Given the description of an element on the screen output the (x, y) to click on. 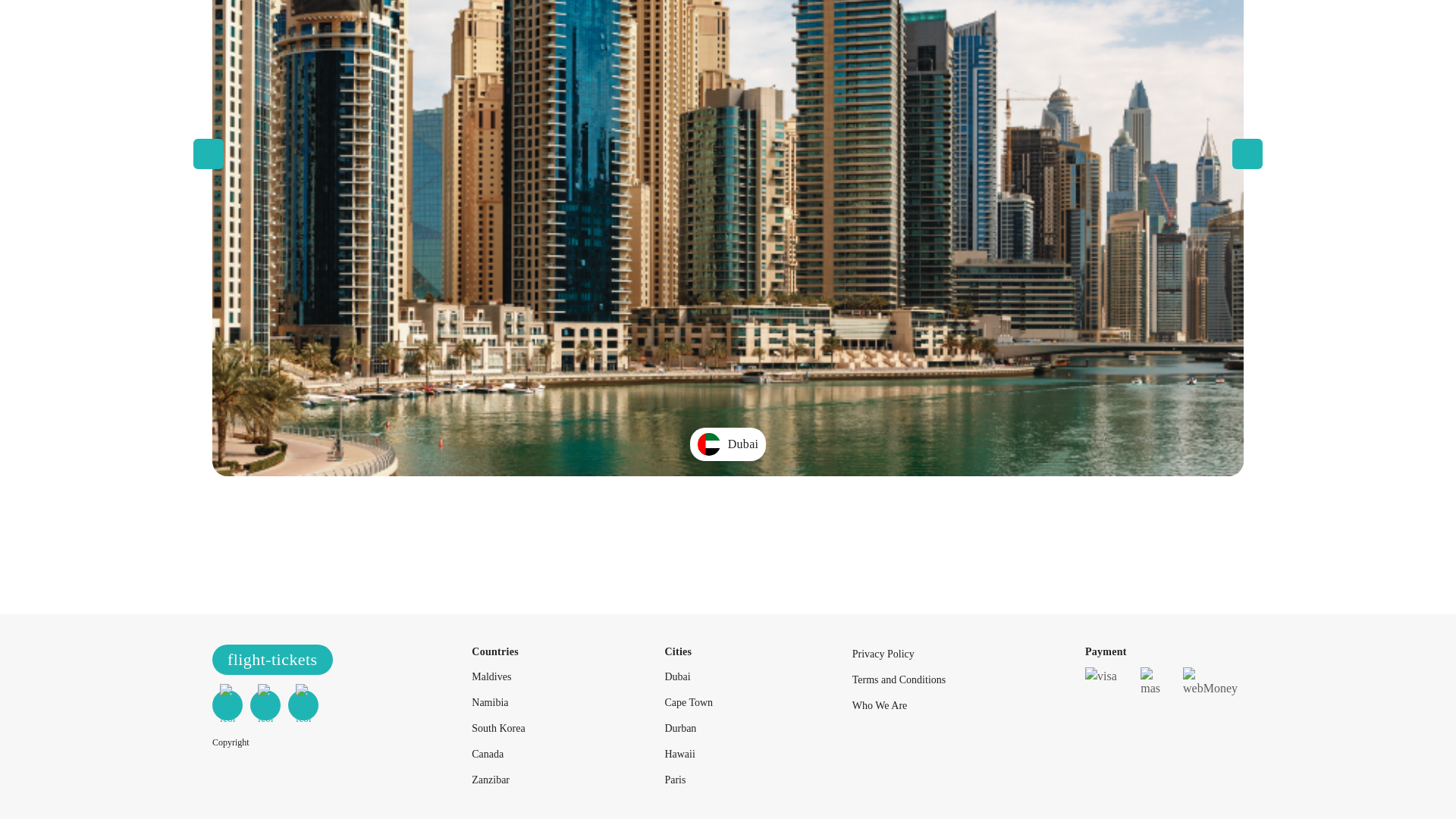
Who We Are (879, 705)
Privacy Policy (882, 654)
Durban (679, 727)
Dubai (676, 676)
Cape Town (688, 702)
Terms and Conditions (897, 679)
Zanzibar (490, 779)
Hawaii (678, 754)
Maldives (491, 676)
flight-tickets (272, 659)
Namibia (489, 702)
Paris (674, 779)
South Korea (497, 727)
Canada (487, 754)
